Given the description of an element on the screen output the (x, y) to click on. 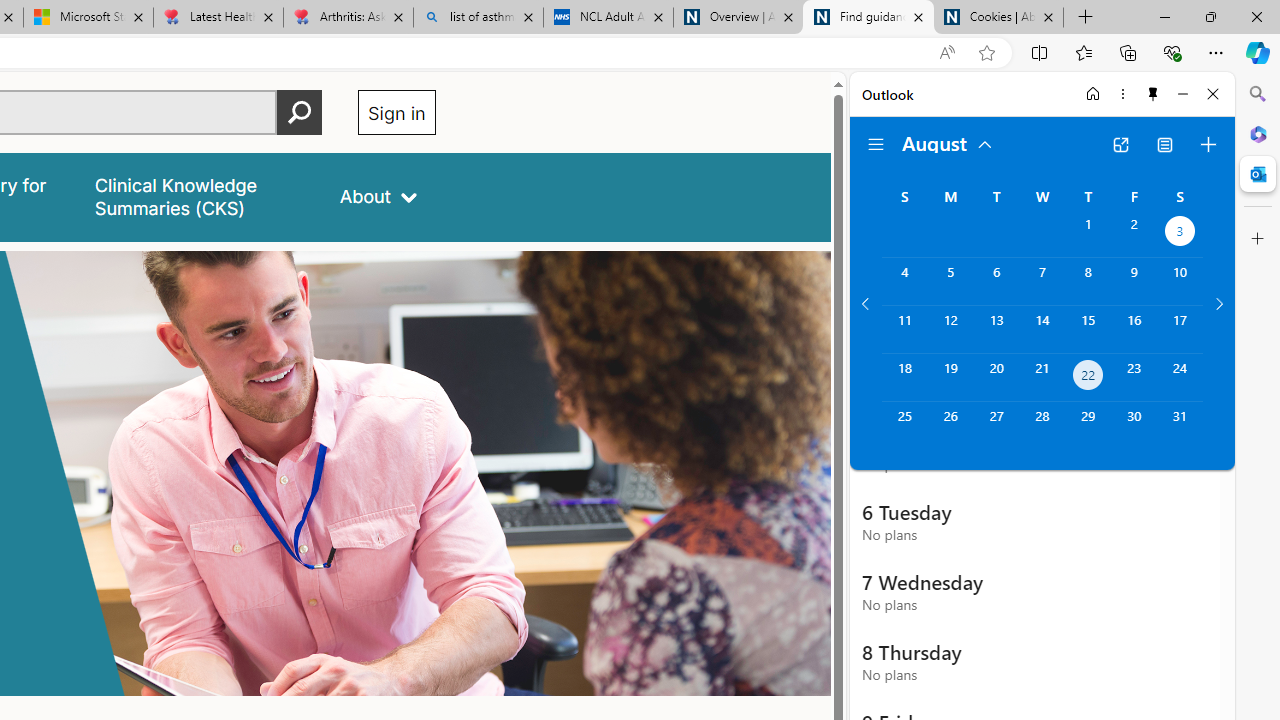
Close Customize pane (1258, 239)
Tuesday, August 13, 2024.  (996, 329)
Add this page to favorites (Ctrl+D) (986, 53)
Friday, August 30, 2024.  (1134, 425)
Sunday, August 4, 2024.  (904, 281)
Friday, August 23, 2024.  (1134, 377)
Open in new tab (1120, 144)
Sunday, August 25, 2024.  (904, 425)
Search (1258, 94)
Saturday, August 24, 2024.  (1180, 377)
Tuesday, August 6, 2024.  (996, 281)
Thursday, August 15, 2024.  (1088, 329)
About (378, 196)
Sign in (396, 112)
